Given the description of an element on the screen output the (x, y) to click on. 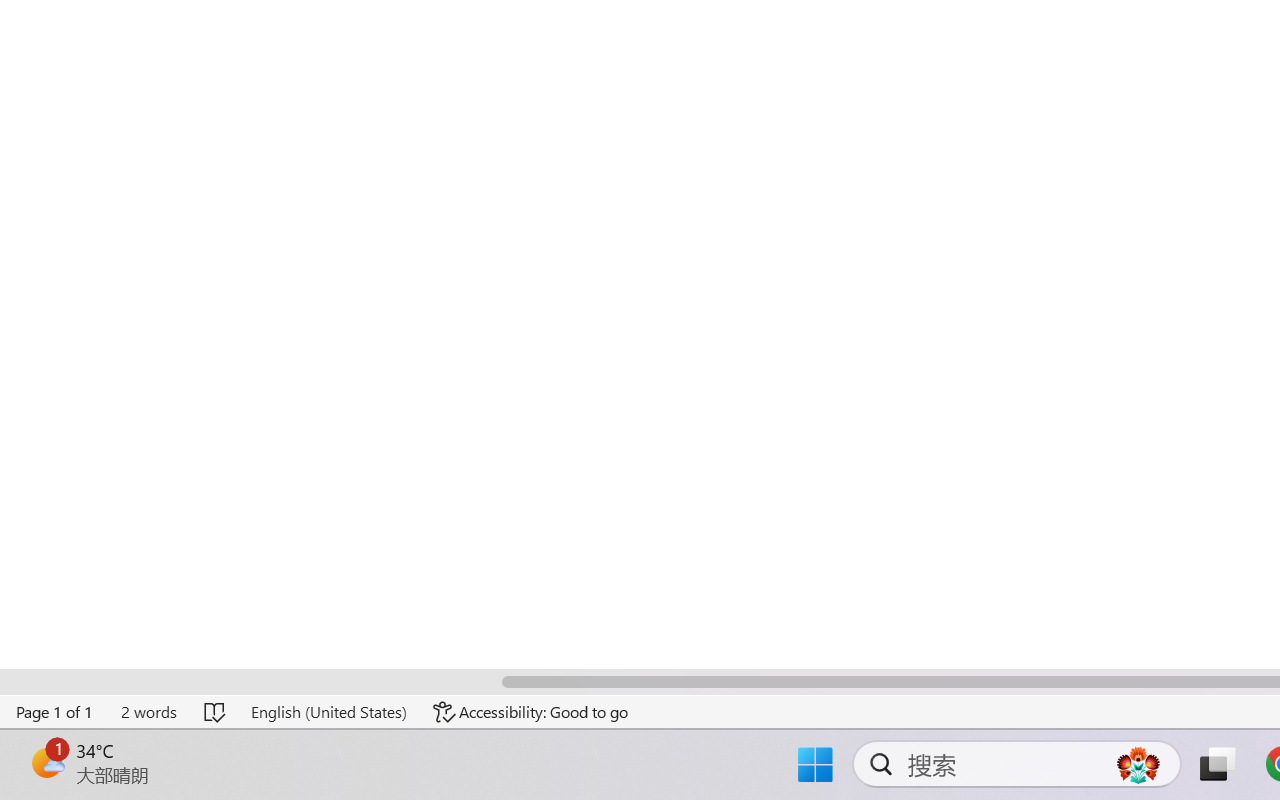
Accessibility Checker Accessibility: Good to go (531, 712)
Page Number Page 1 of 1 (55, 712)
AutomationID: DynamicSearchBoxGleamImage (1138, 764)
Language English (United States) (328, 712)
AutomationID: BadgeAnchorLargeTicker (46, 762)
Spelling and Grammar Check No Errors (216, 712)
